Given the description of an element on the screen output the (x, y) to click on. 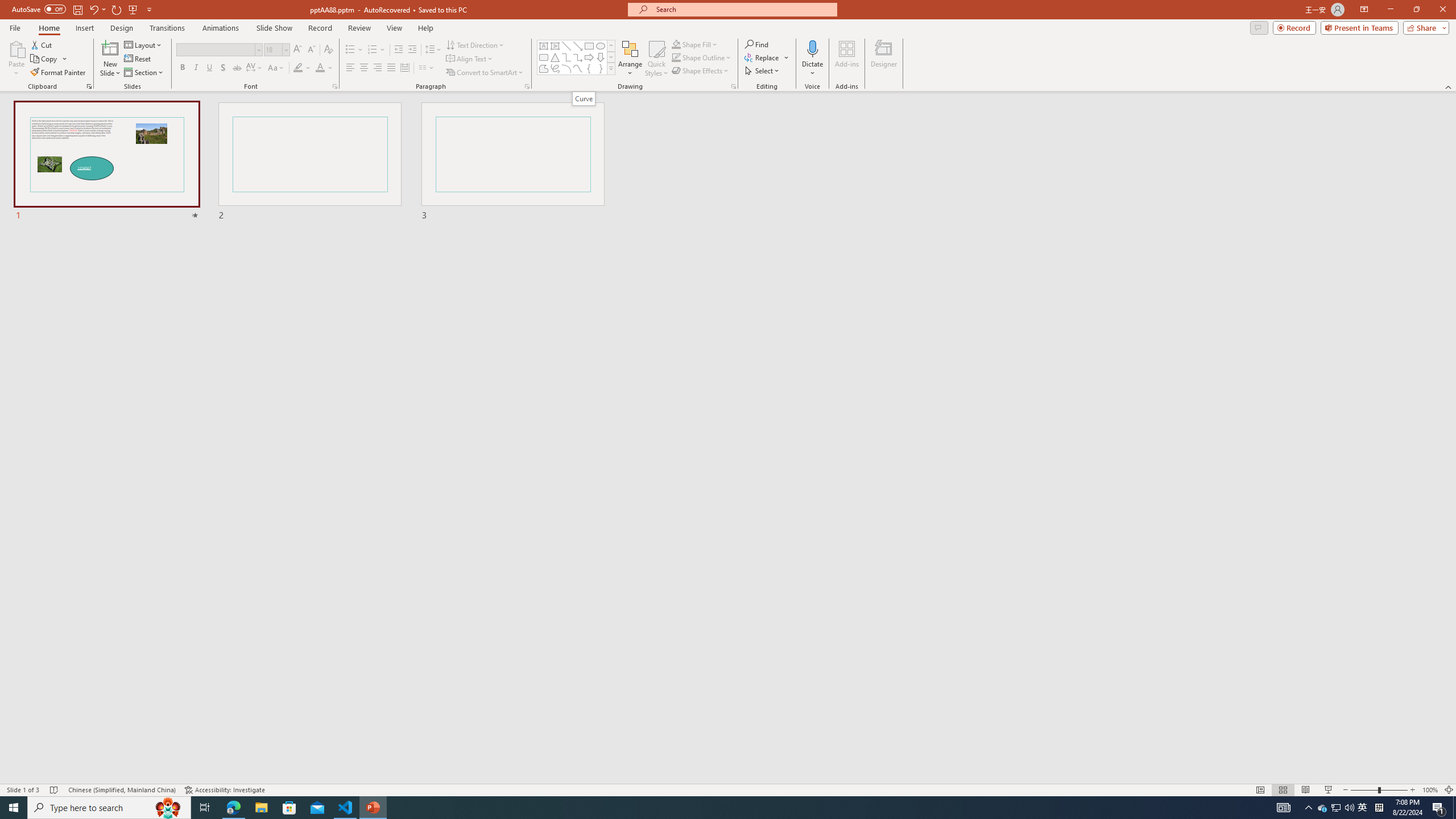
Shape Fill Aqua, Accent 2 (675, 44)
